Given the description of an element on the screen output the (x, y) to click on. 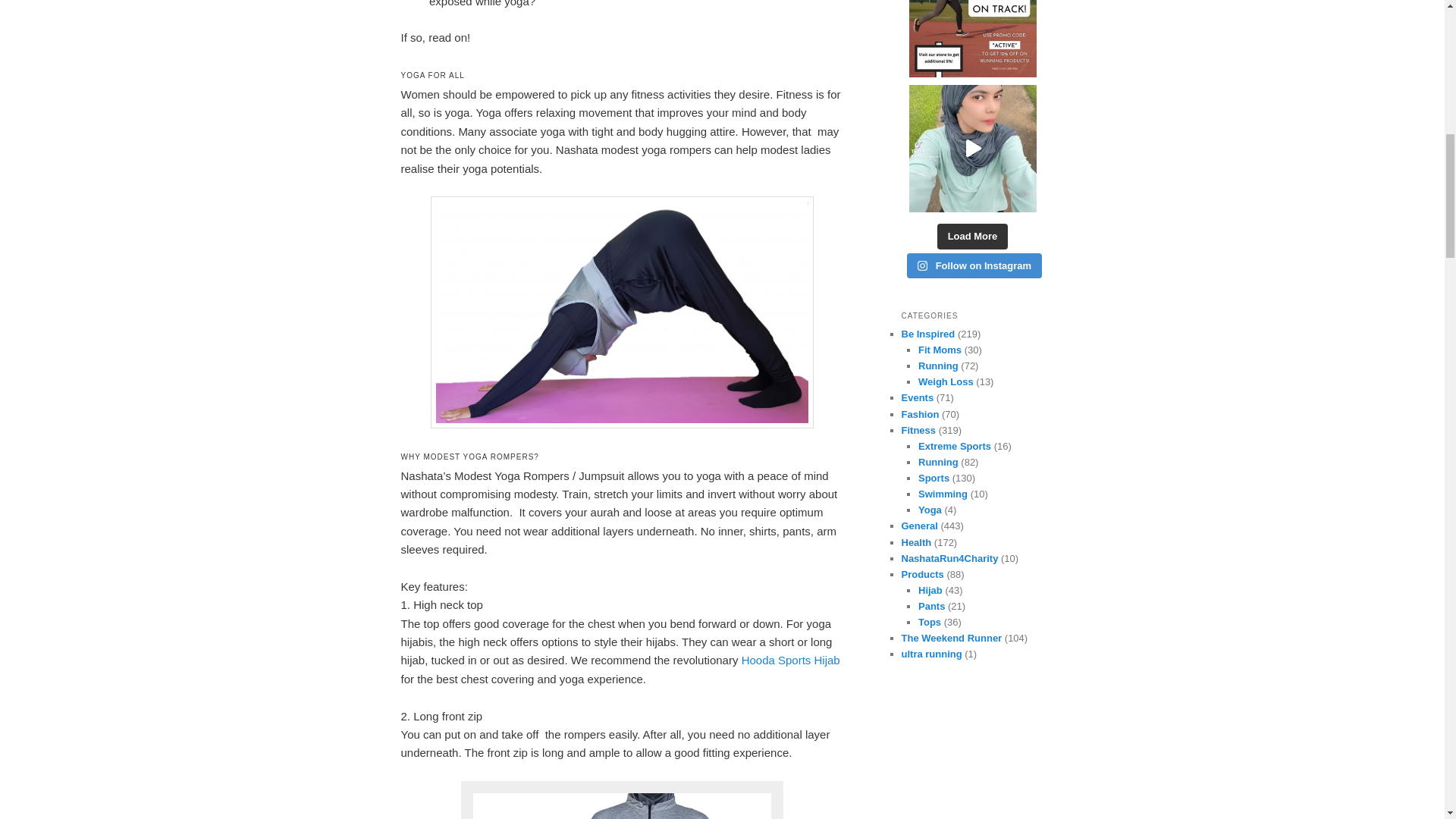
Hooda Sports Hijab (790, 659)
Sporting actiivities (933, 478)
